Given the description of an element on the screen output the (x, y) to click on. 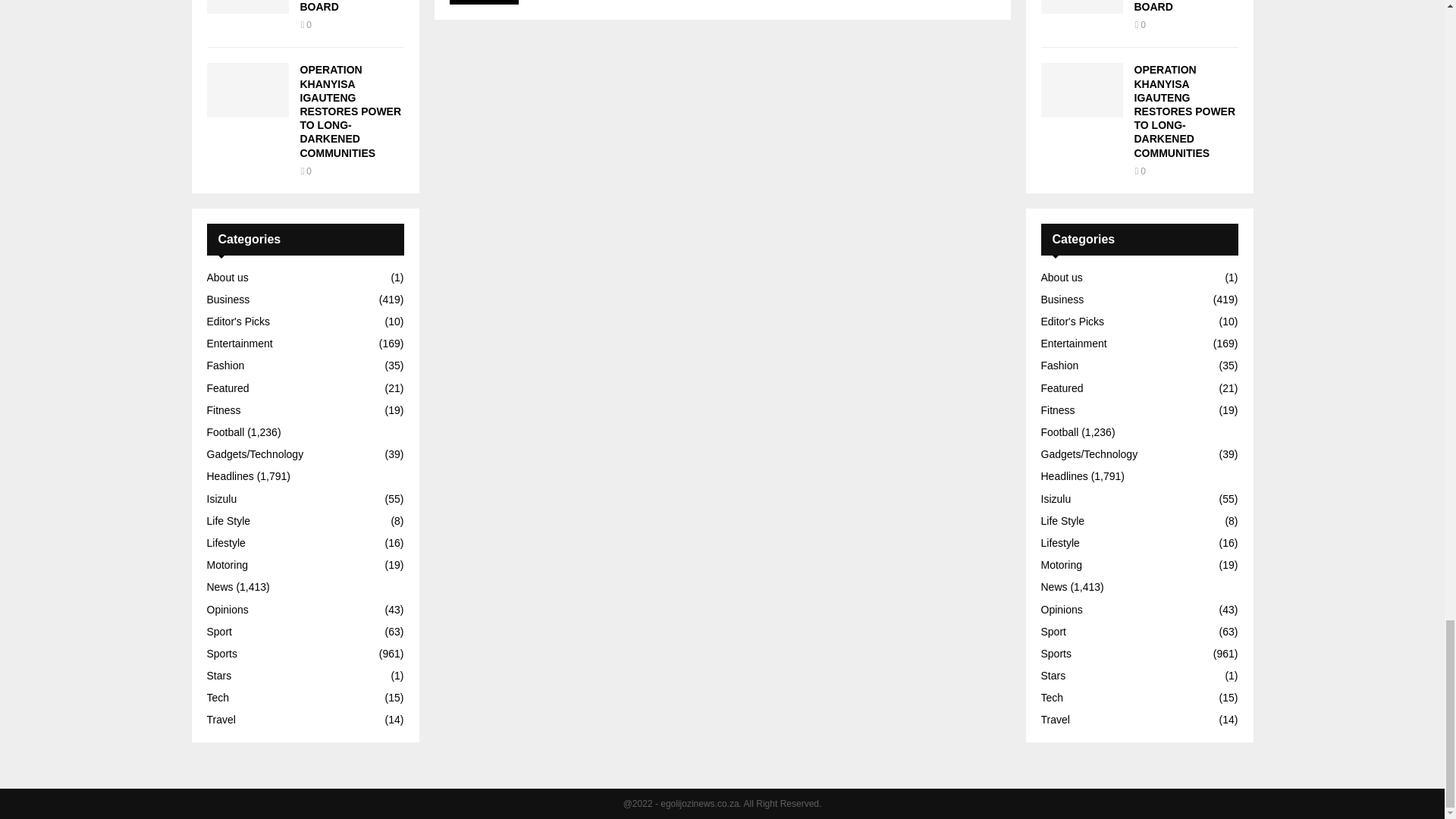
Submit (483, 2)
